Given the description of an element on the screen output the (x, y) to click on. 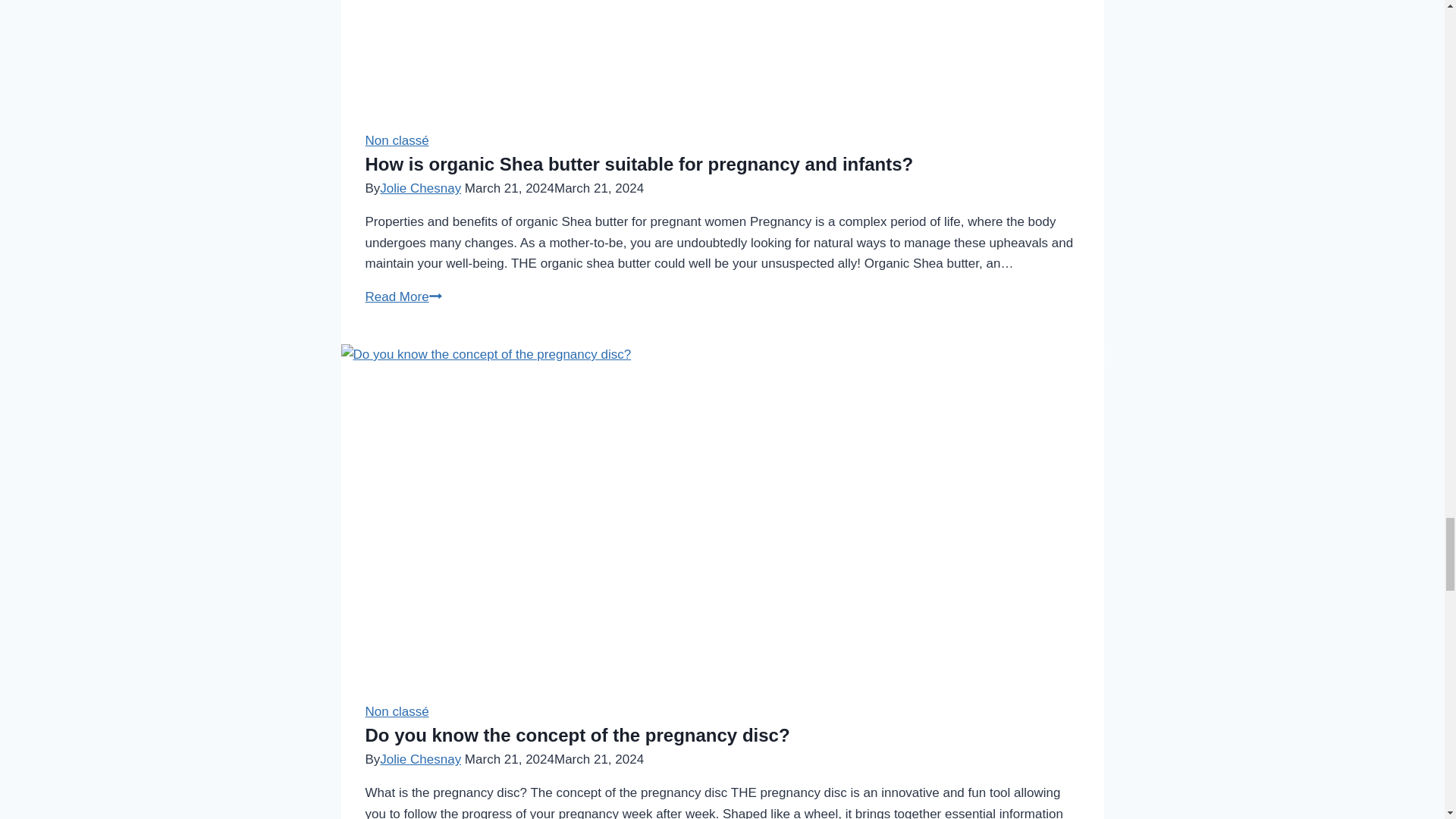
Jolie Chesnay (420, 187)
Jolie Chesnay (420, 759)
Do you know the concept of the pregnancy disc? (577, 734)
